Given the description of an element on the screen output the (x, y) to click on. 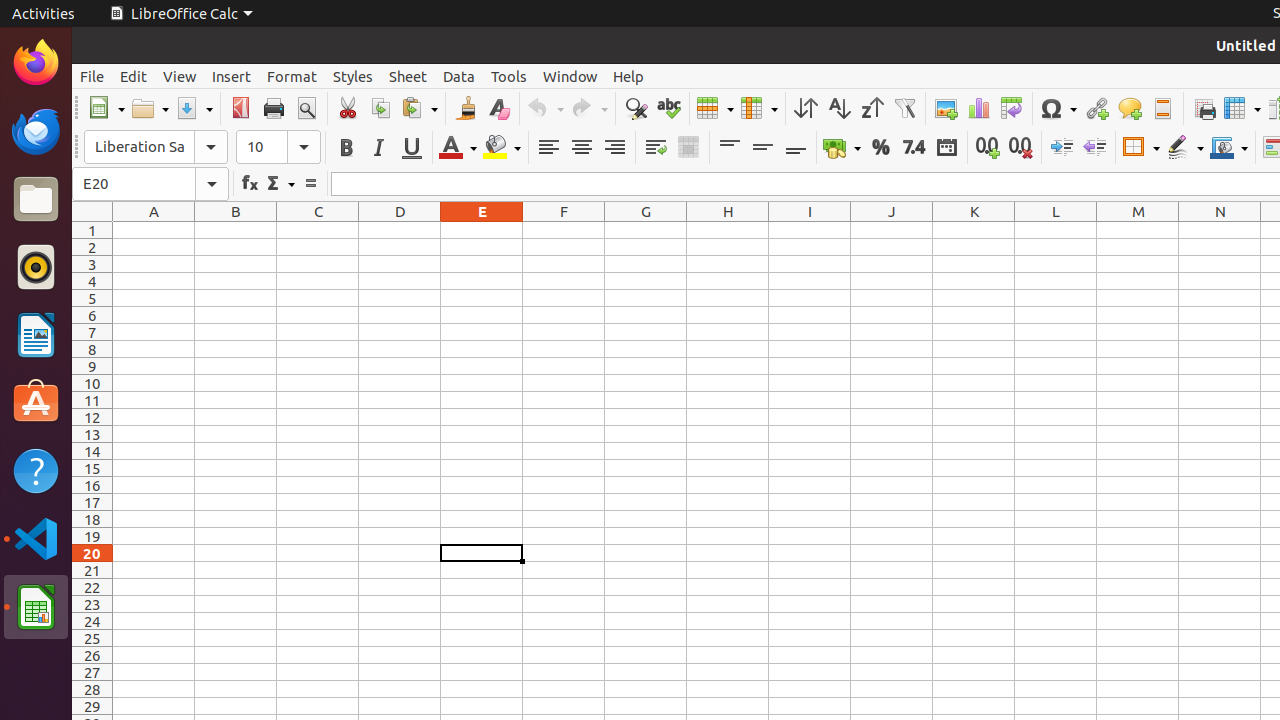
Undo Element type: push-button (545, 108)
Align Left Element type: push-button (548, 147)
Align Center Element type: push-button (581, 147)
Column Element type: push-button (759, 108)
Sort Descending Element type: push-button (871, 108)
